Given the description of an element on the screen output the (x, y) to click on. 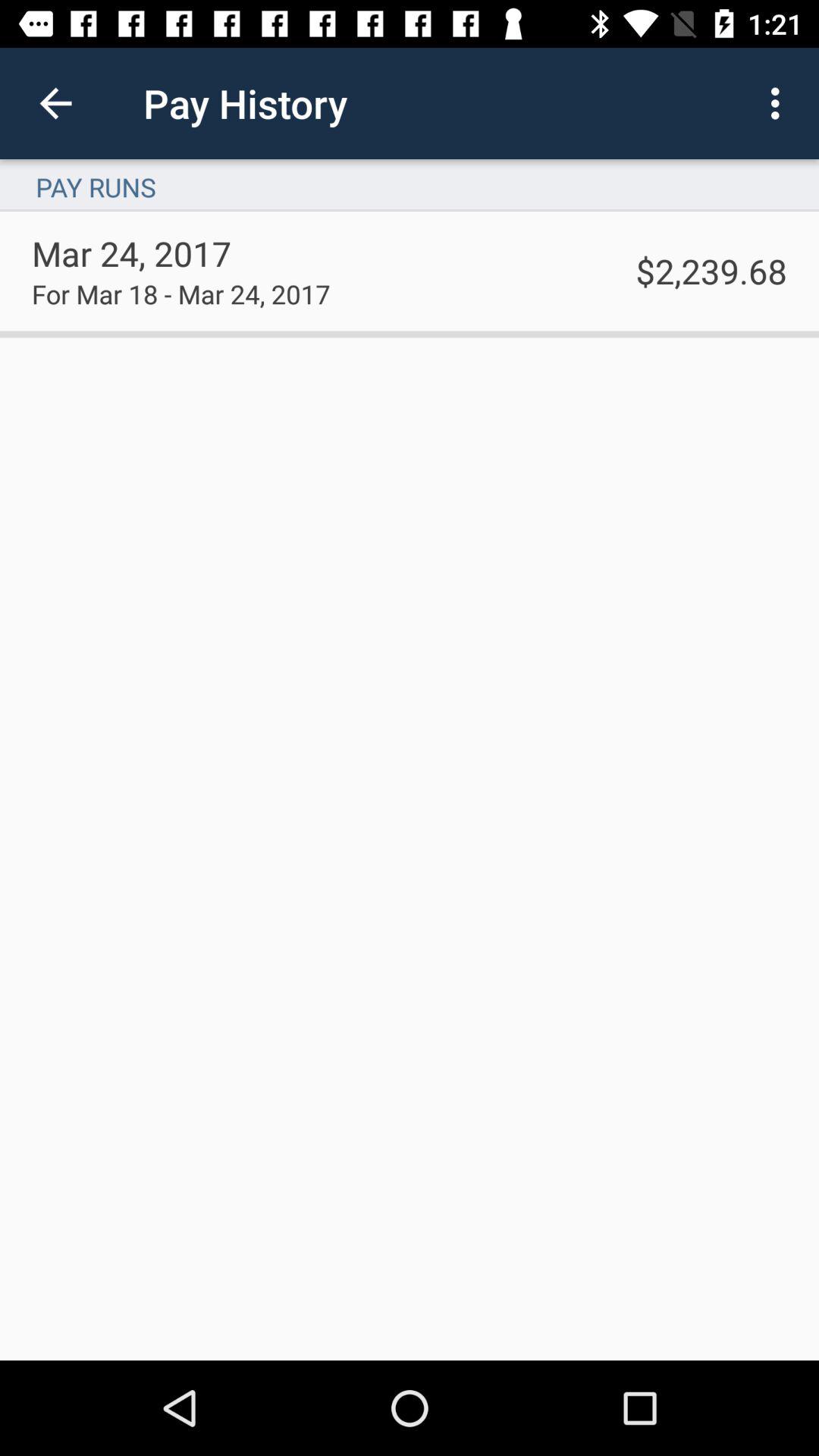
turn on item below the mar 24, 2017 item (180, 293)
